Given the description of an element on the screen output the (x, y) to click on. 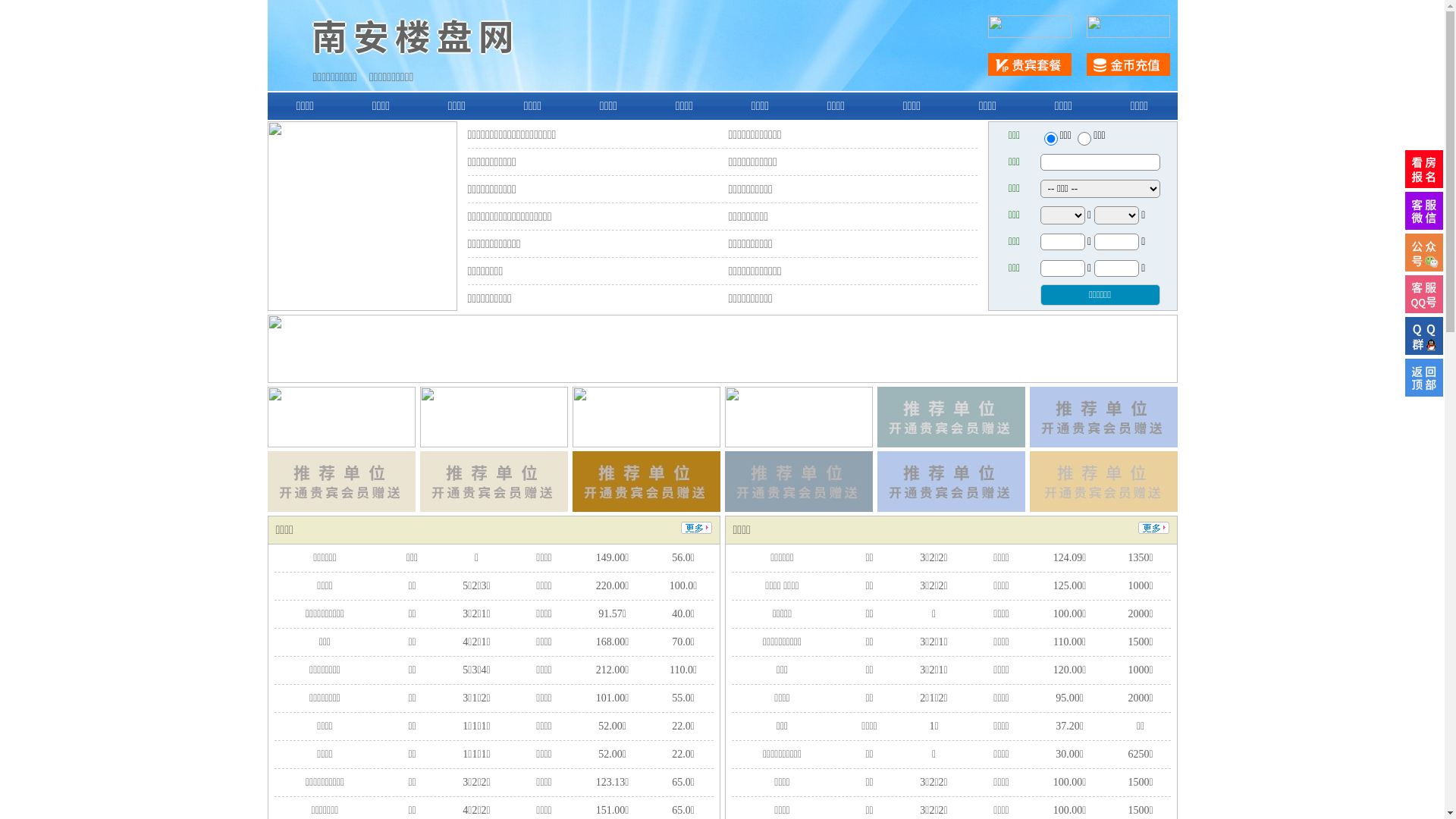
chuzu Element type: text (1084, 138)
ershou Element type: text (1050, 138)
